Given the description of an element on the screen output the (x, y) to click on. 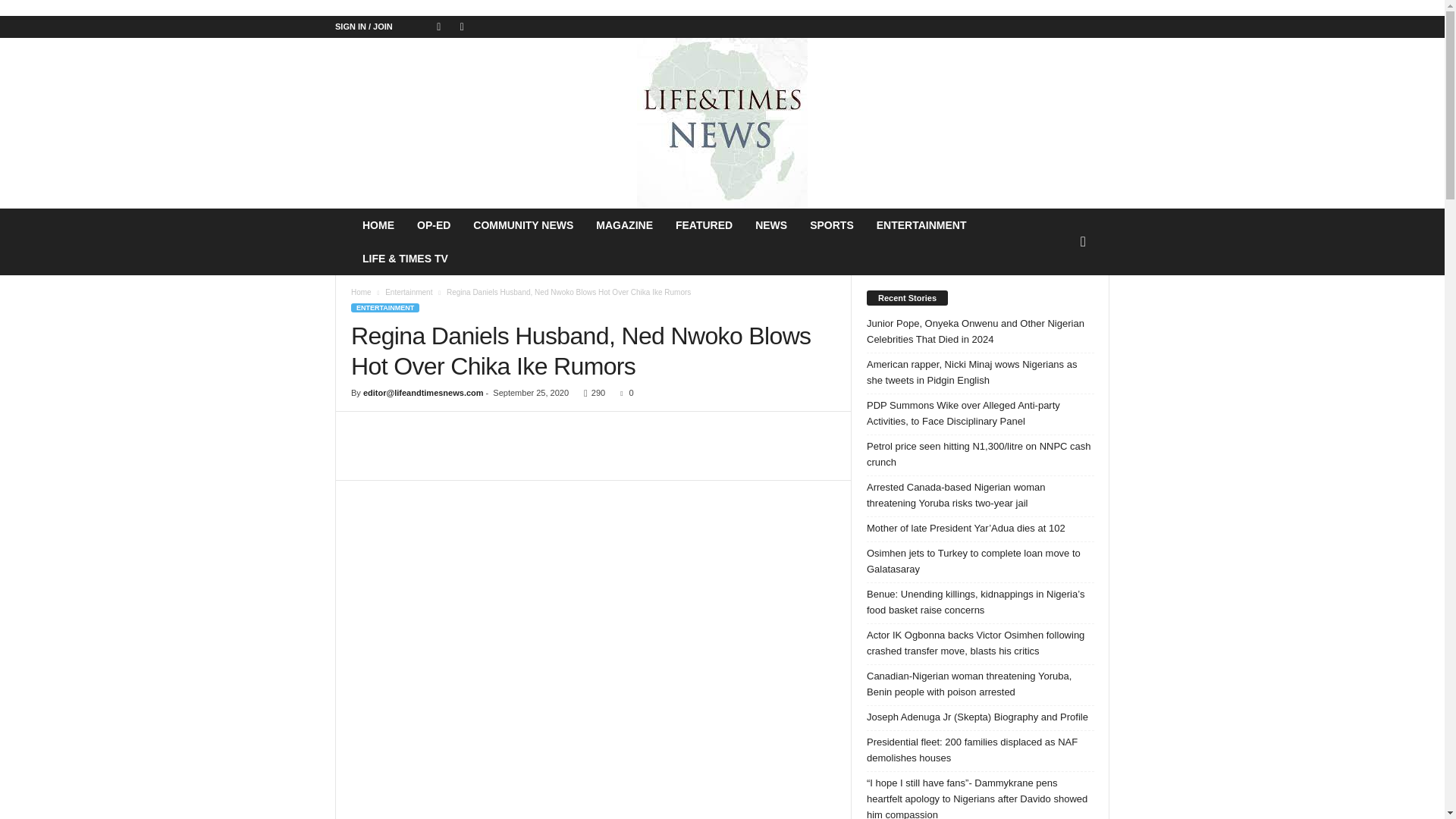
0 (623, 392)
ENTERTAINMENT (921, 224)
SPORTS (830, 224)
HOME (378, 224)
COMMUNITY NEWS (523, 224)
ENTERTAINMENT (384, 307)
MAGAZINE (624, 224)
NEWS (770, 224)
OP-ED (433, 224)
Home (360, 292)
